Given the description of an element on the screen output the (x, y) to click on. 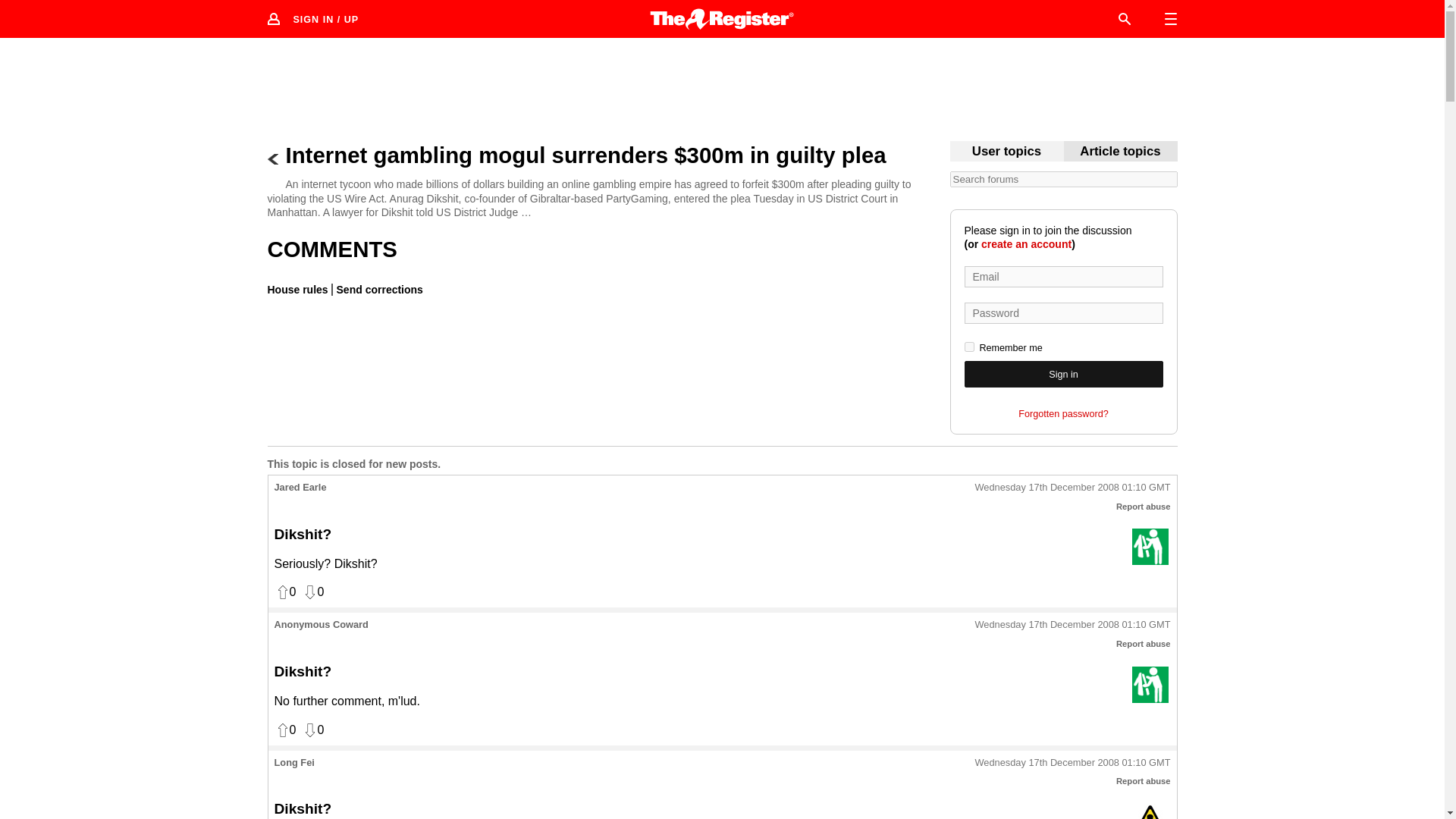
Inappropriate post? Report it to our moderators (1143, 506)
Permalink to this post (1072, 625)
Report abuse (1143, 780)
Forgotten password? (1063, 413)
Like this post? Vote for it! (286, 591)
Like this post? Vote for it! (286, 729)
Permalink to this post (1072, 487)
yes (968, 347)
Inappropriate post? Report it to our moderators (1143, 643)
Spotted an error? Let us know. (377, 289)
